Given the description of an element on the screen output the (x, y) to click on. 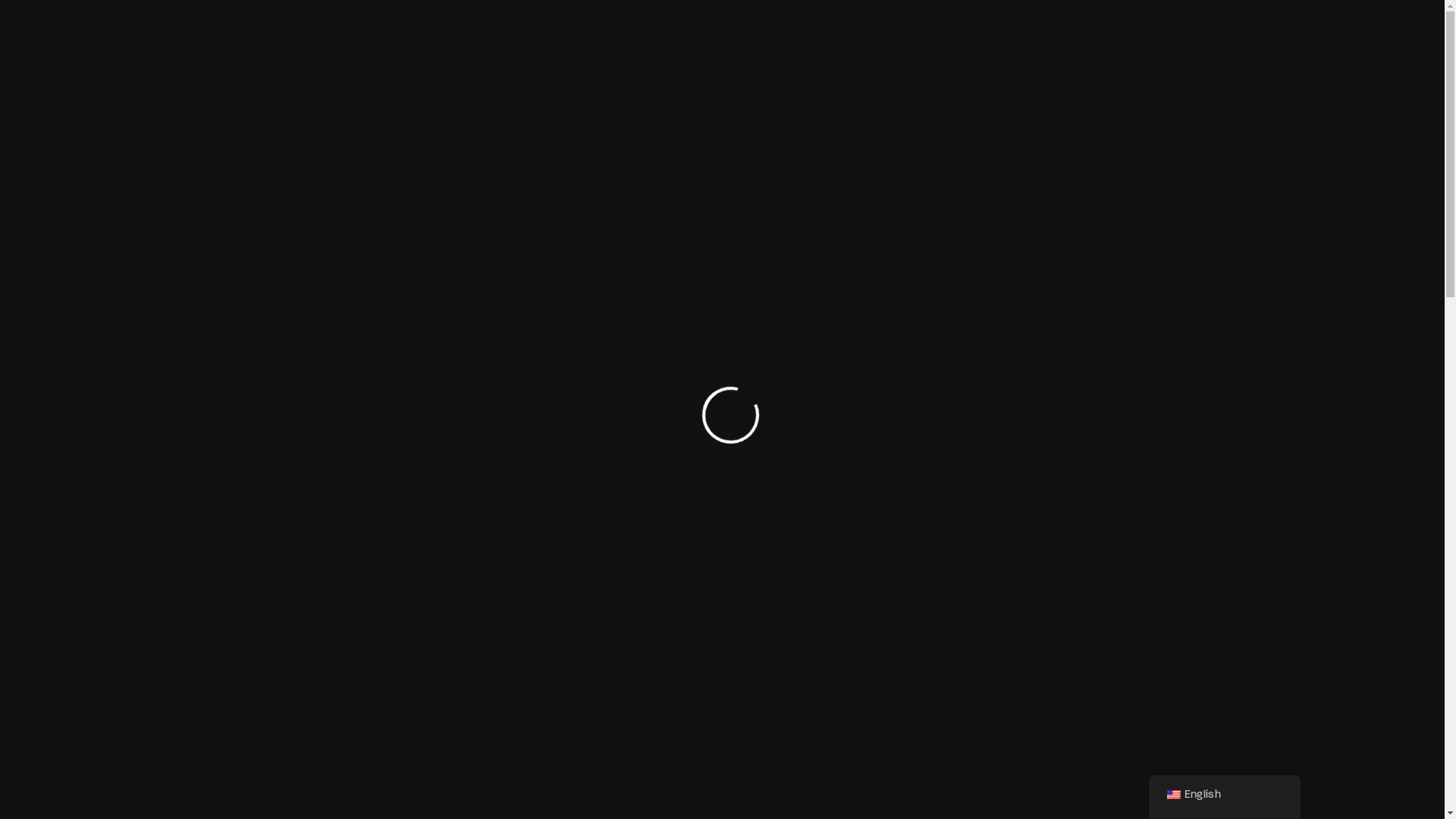
About Us Element type: text (750, 45)
Projects Element type: text (1119, 45)
Home Element type: text (683, 45)
Aisha Productions Element type: text (164, 45)
Contact Us Element type: text (1206, 45)
Investment & Product placement Element type: text (976, 45)
English Element type: text (1223, 794)
English Element type: hover (1172, 794)
Casting Call Element type: text (832, 45)
